Given the description of an element on the screen output the (x, y) to click on. 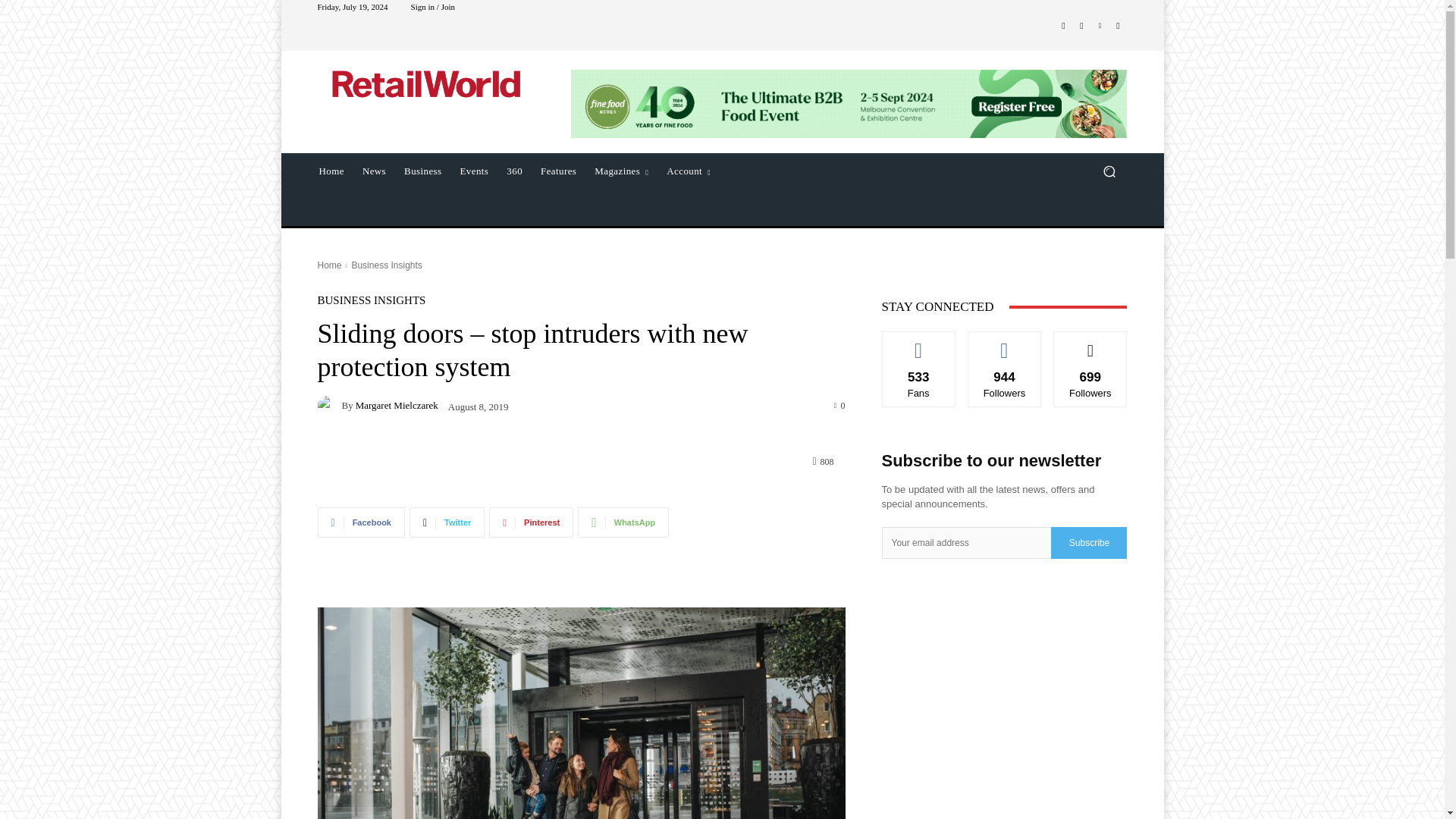
News (373, 171)
Instagram (1080, 25)
Home (328, 265)
Twitter (446, 521)
Home (330, 171)
Business (421, 171)
Linkedin (1099, 25)
Margaret Mielczarek (328, 405)
Account (688, 171)
Pinterest (531, 521)
Magazines (621, 171)
Events (474, 171)
WhatsApp (623, 521)
Twitter (1117, 25)
Facebook (1062, 25)
